Given the description of an element on the screen output the (x, y) to click on. 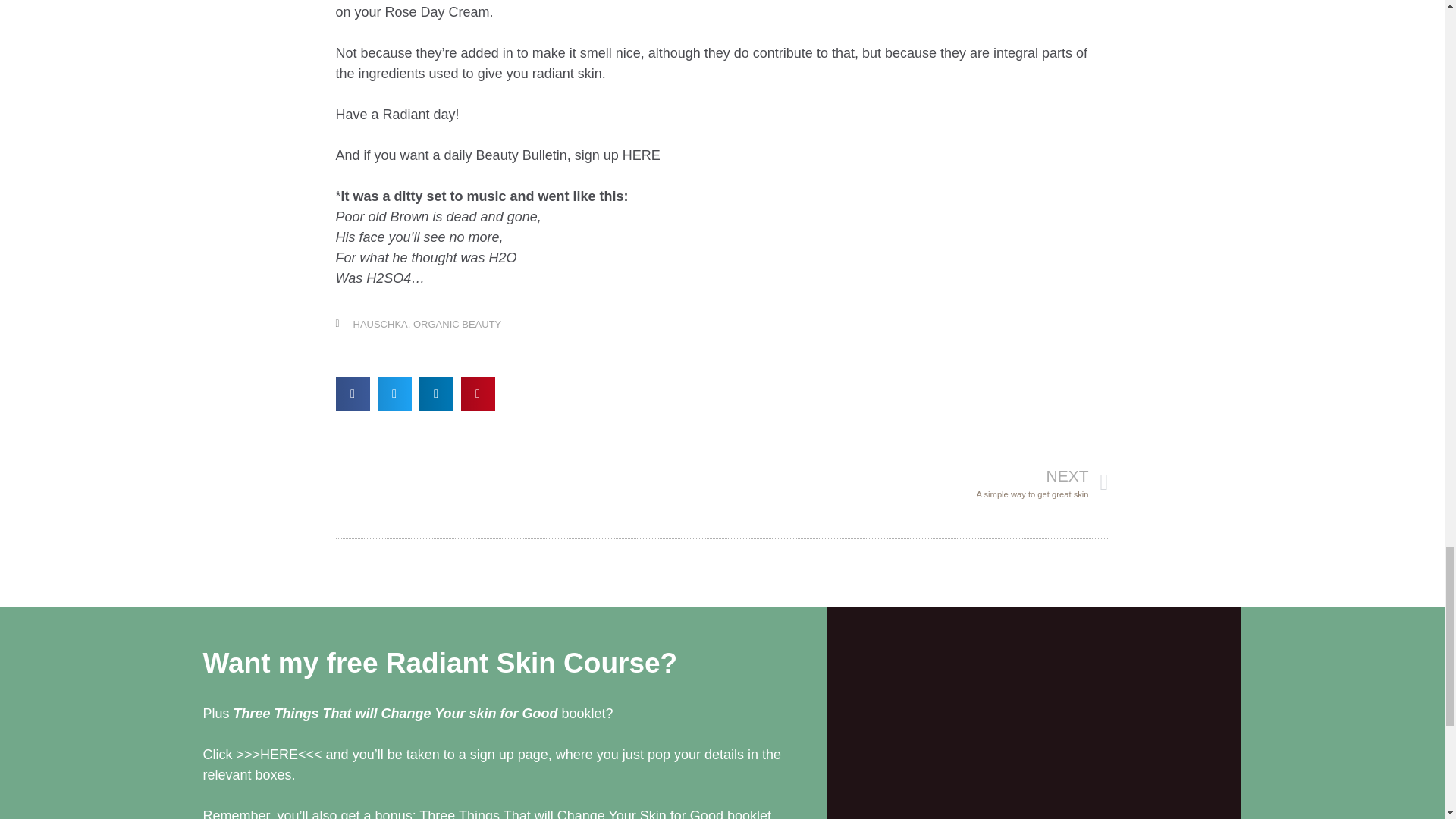
ORGANIC BEAUTY (456, 324)
HAUSCHKA (380, 324)
HERE (915, 482)
